Given the description of an element on the screen output the (x, y) to click on. 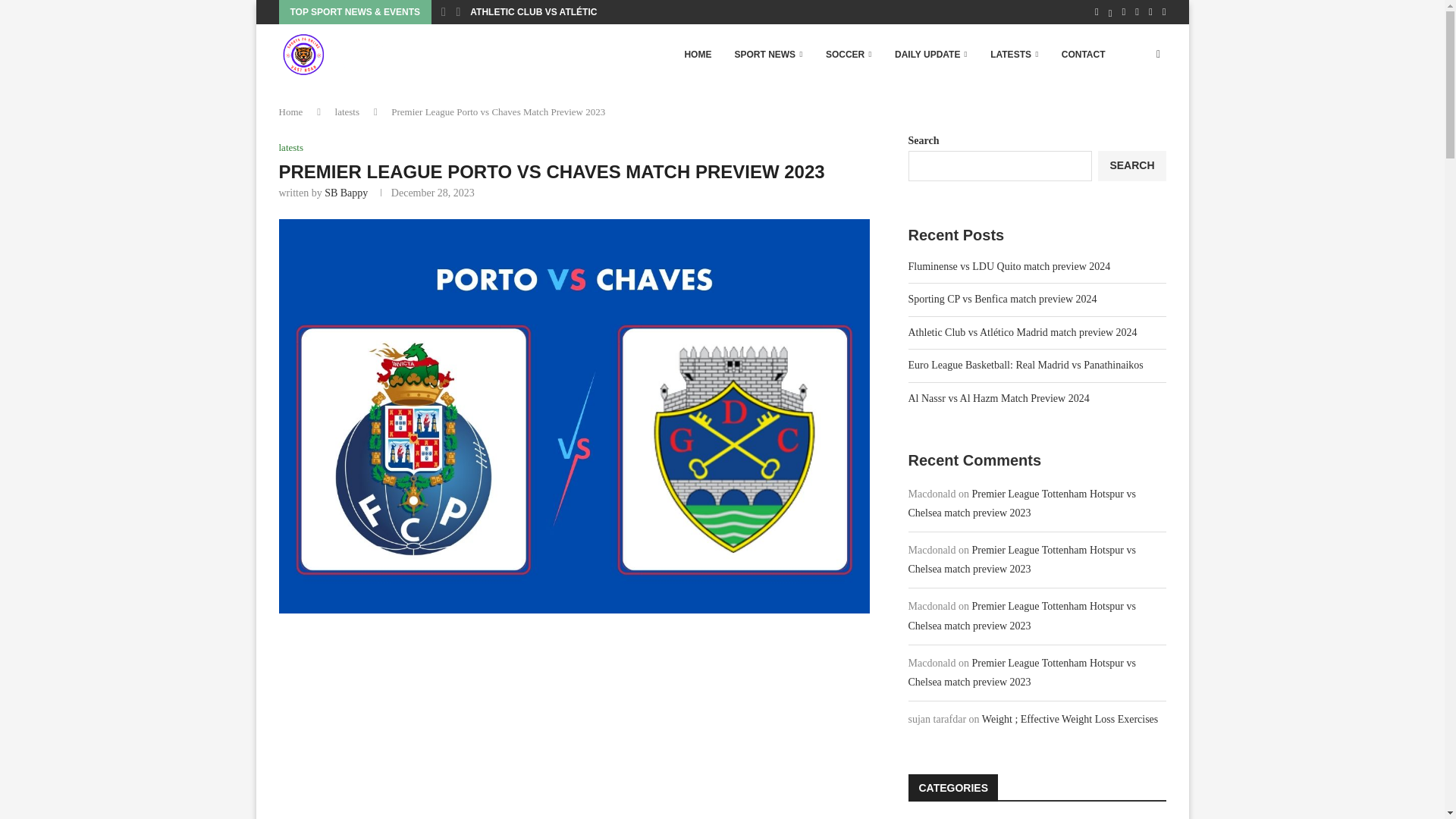
SPORT NEWS (767, 54)
